Given the description of an element on the screen output the (x, y) to click on. 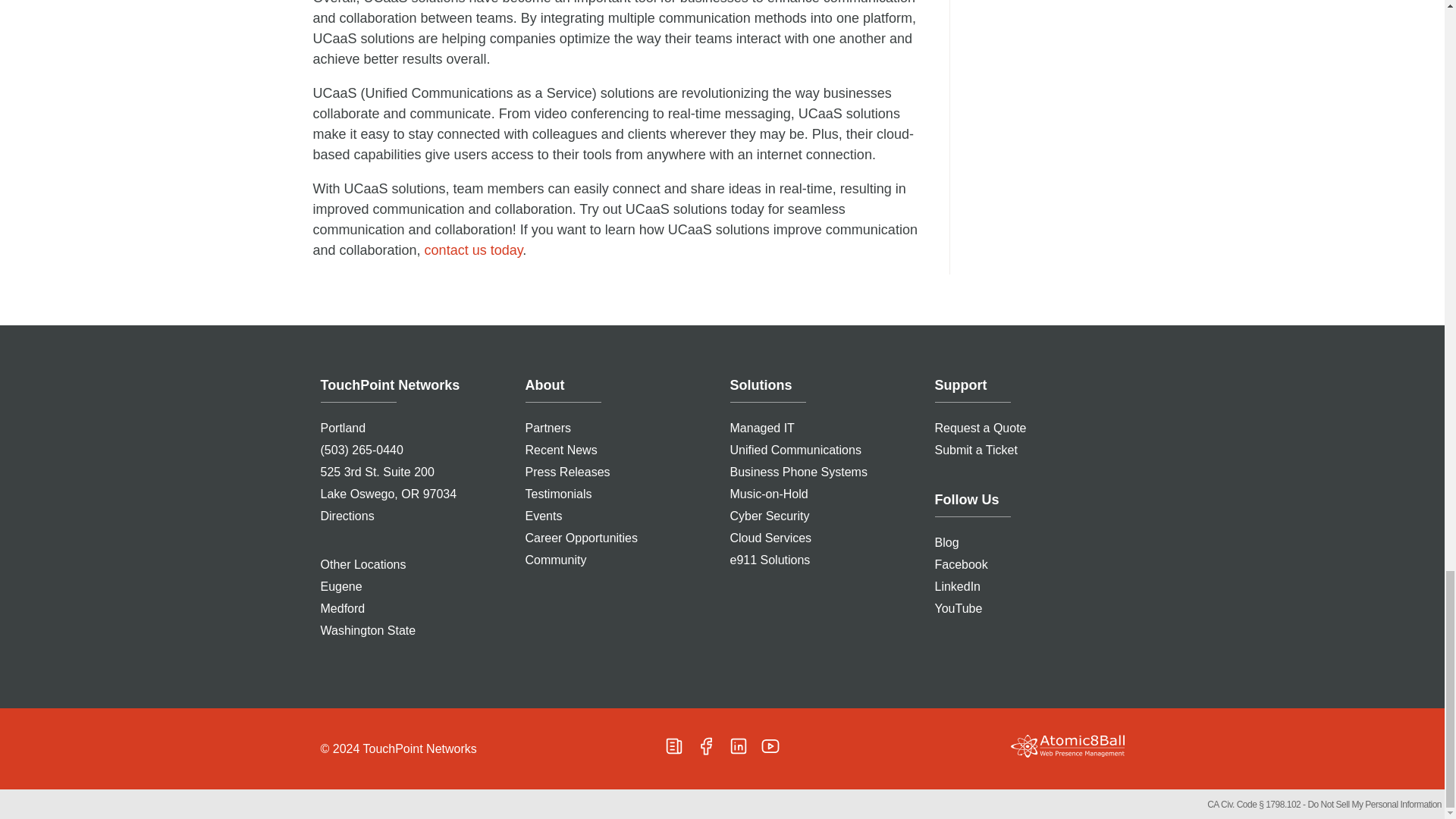
Facebook (705, 745)
YouTube (770, 745)
LinkedIn (738, 745)
contact us today (473, 249)
Blog Articles (673, 745)
